Given the description of an element on the screen output the (x, y) to click on. 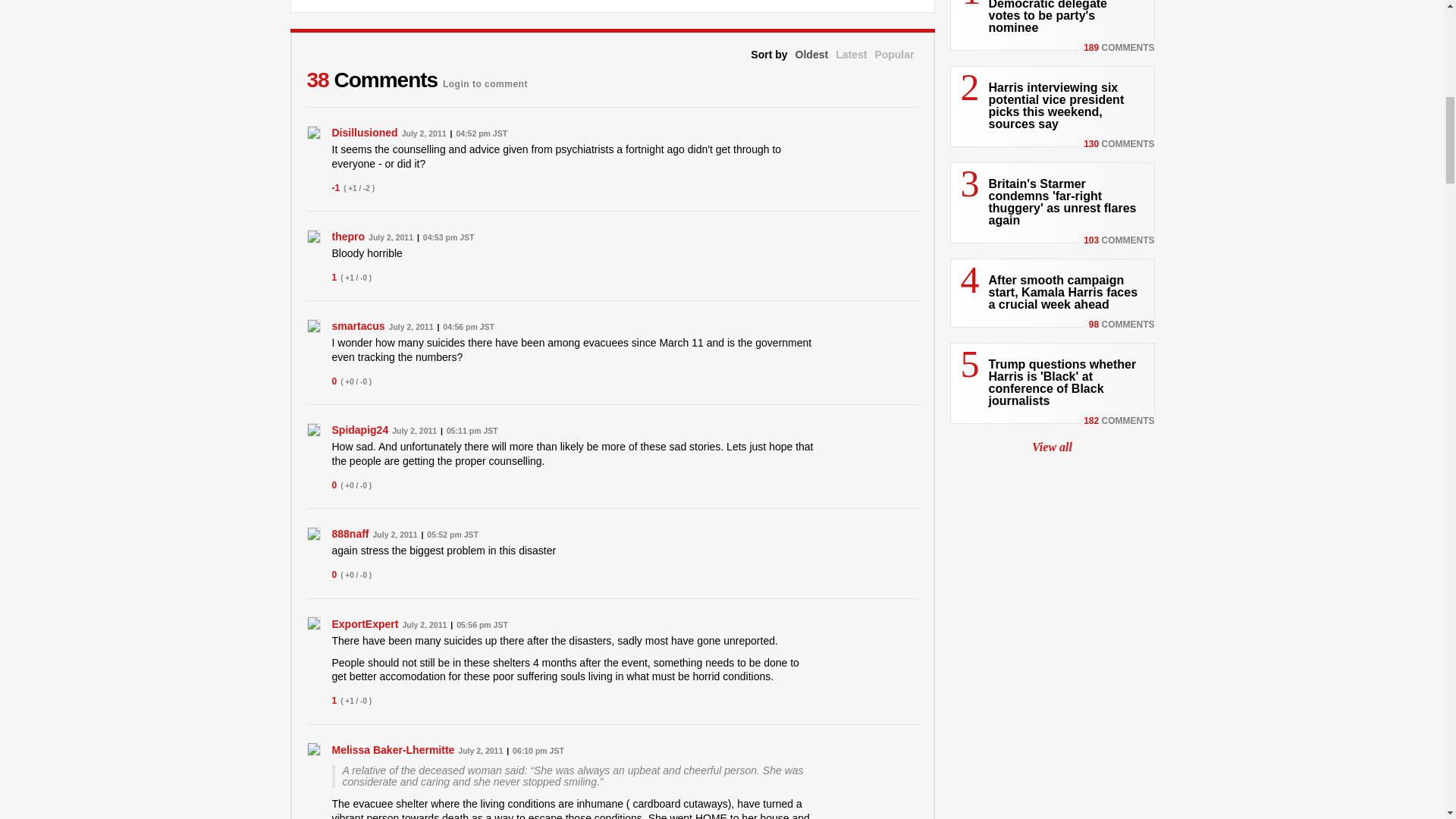
Login to comment (484, 79)
